Given the description of an element on the screen output the (x, y) to click on. 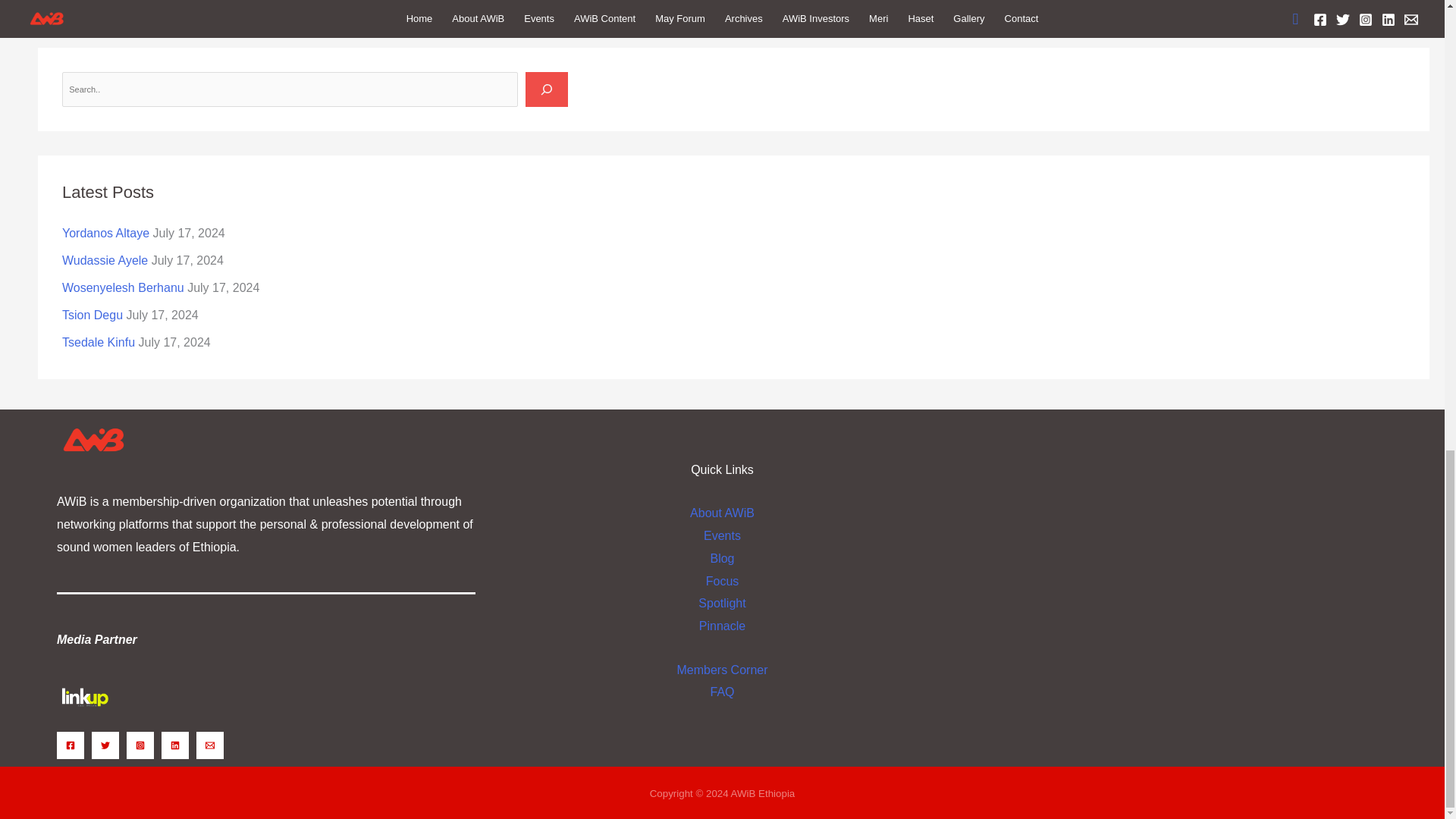
Subscribe to our newsletter (1129, 587)
